Given the description of an element on the screen output the (x, y) to click on. 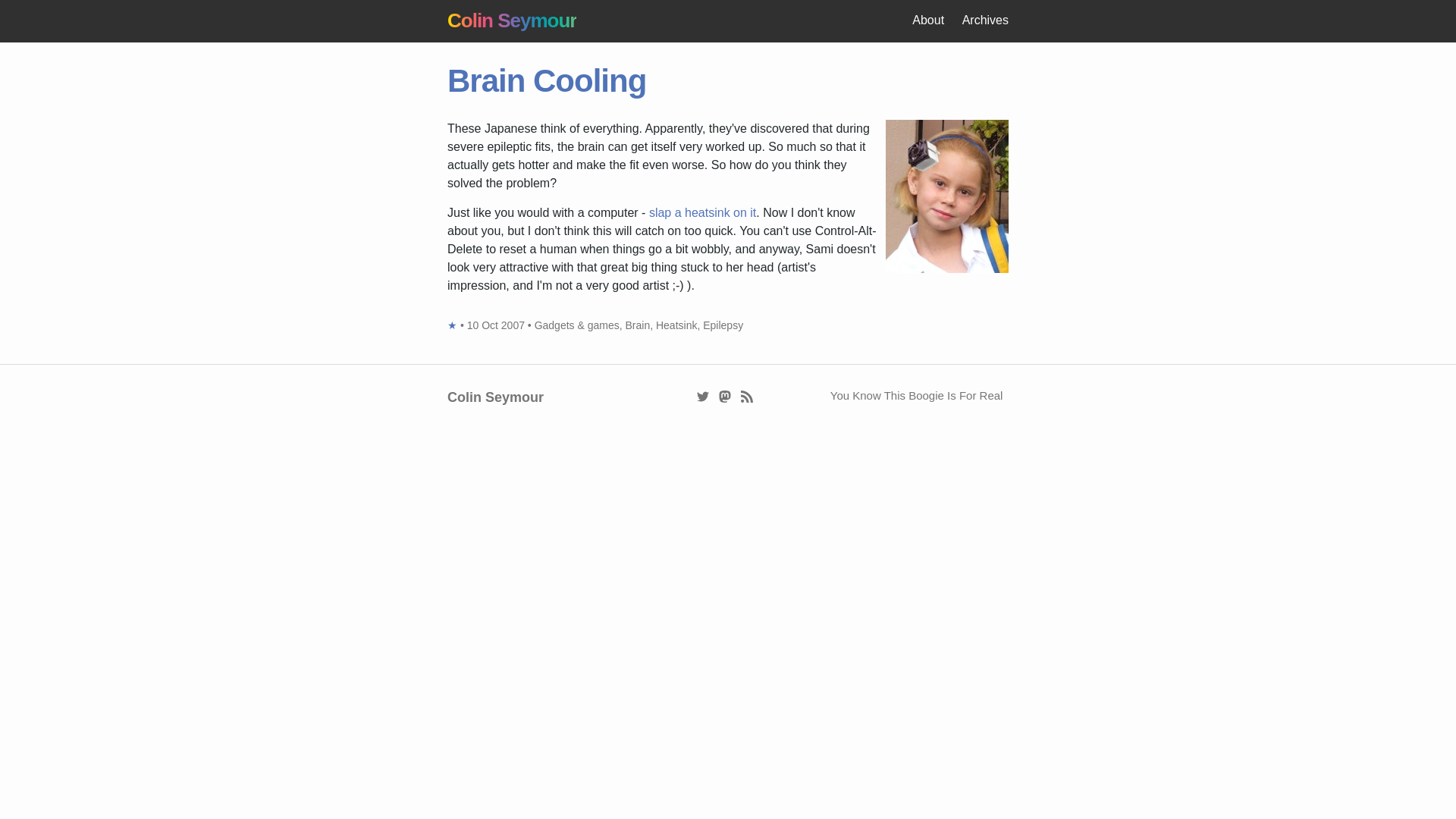
Archives (985, 19)
About (927, 19)
Colin Seymour (511, 20)
slap a heatsink on it (702, 212)
Atom Feed (747, 395)
